Given the description of an element on the screen output the (x, y) to click on. 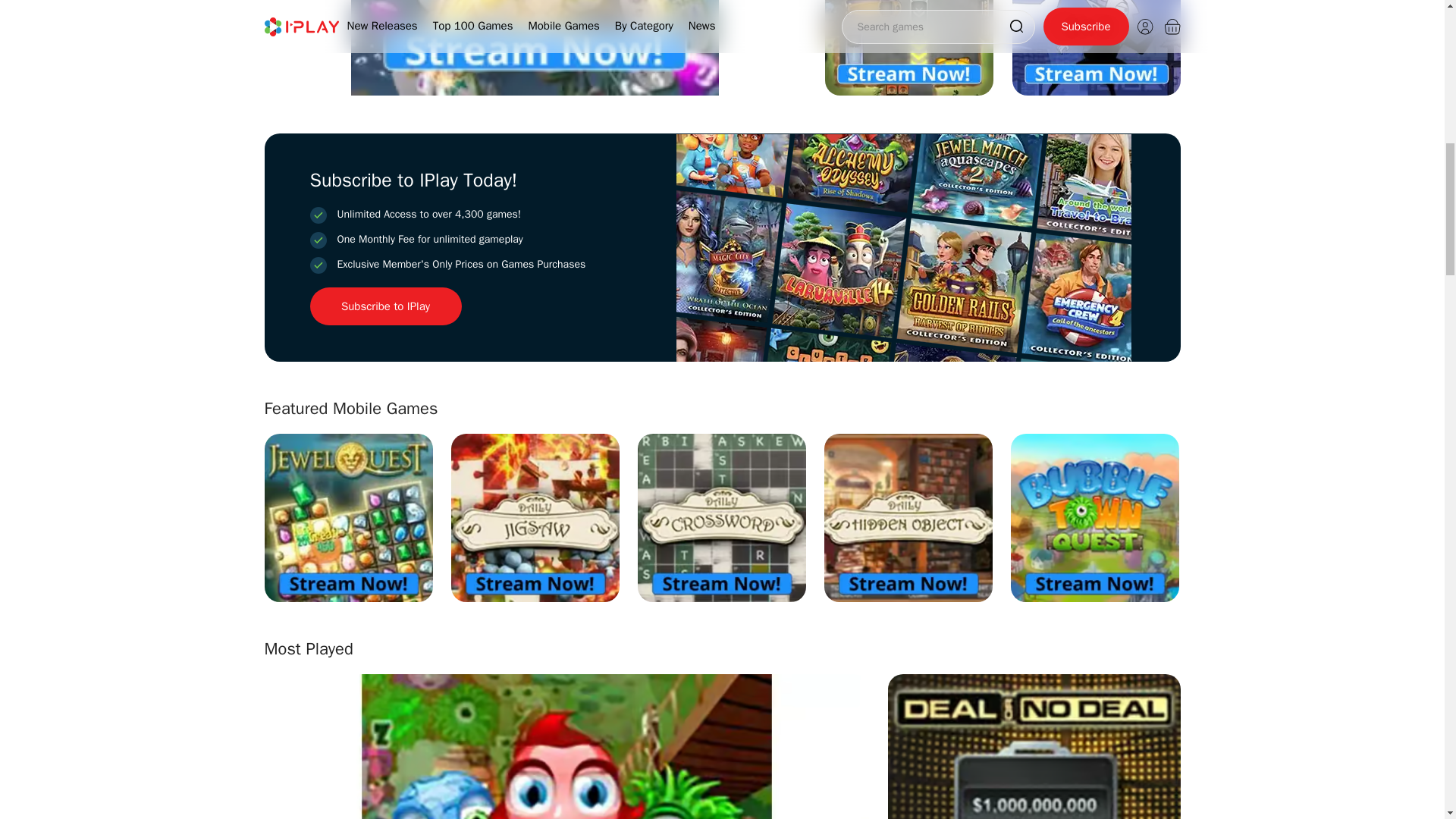
Subscribe to IPlay (384, 306)
